Given the description of an element on the screen output the (x, y) to click on. 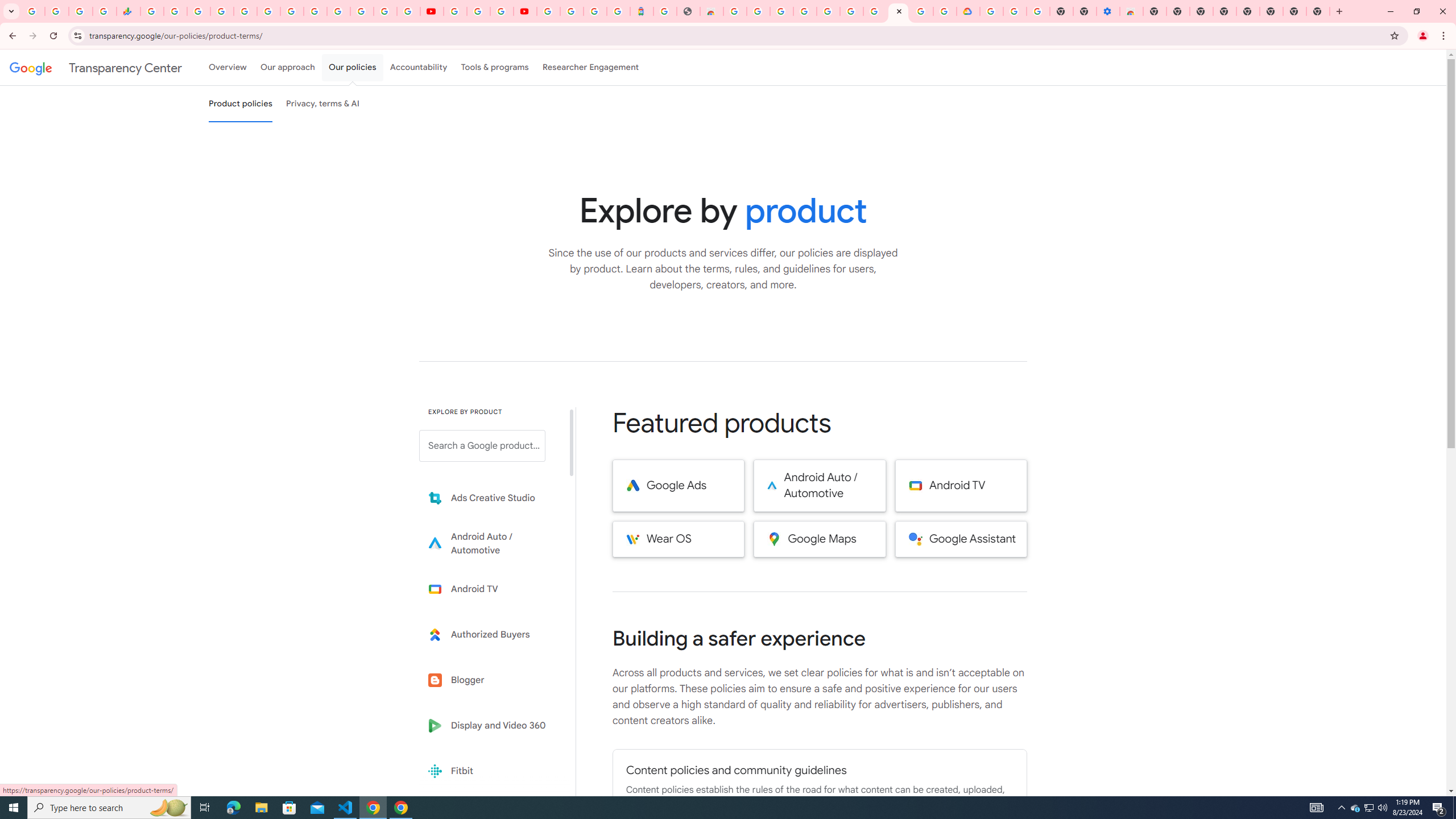
Atour Hotel - Google hotels (641, 11)
Overview (226, 67)
Display and Video 360 (490, 725)
Learn more about Android TV (490, 588)
Product policies (239, 103)
Sign in - Google Accounts (221, 11)
Sign in - Google Accounts (384, 11)
Create your Google Account (921, 11)
